Given the description of an element on the screen output the (x, y) to click on. 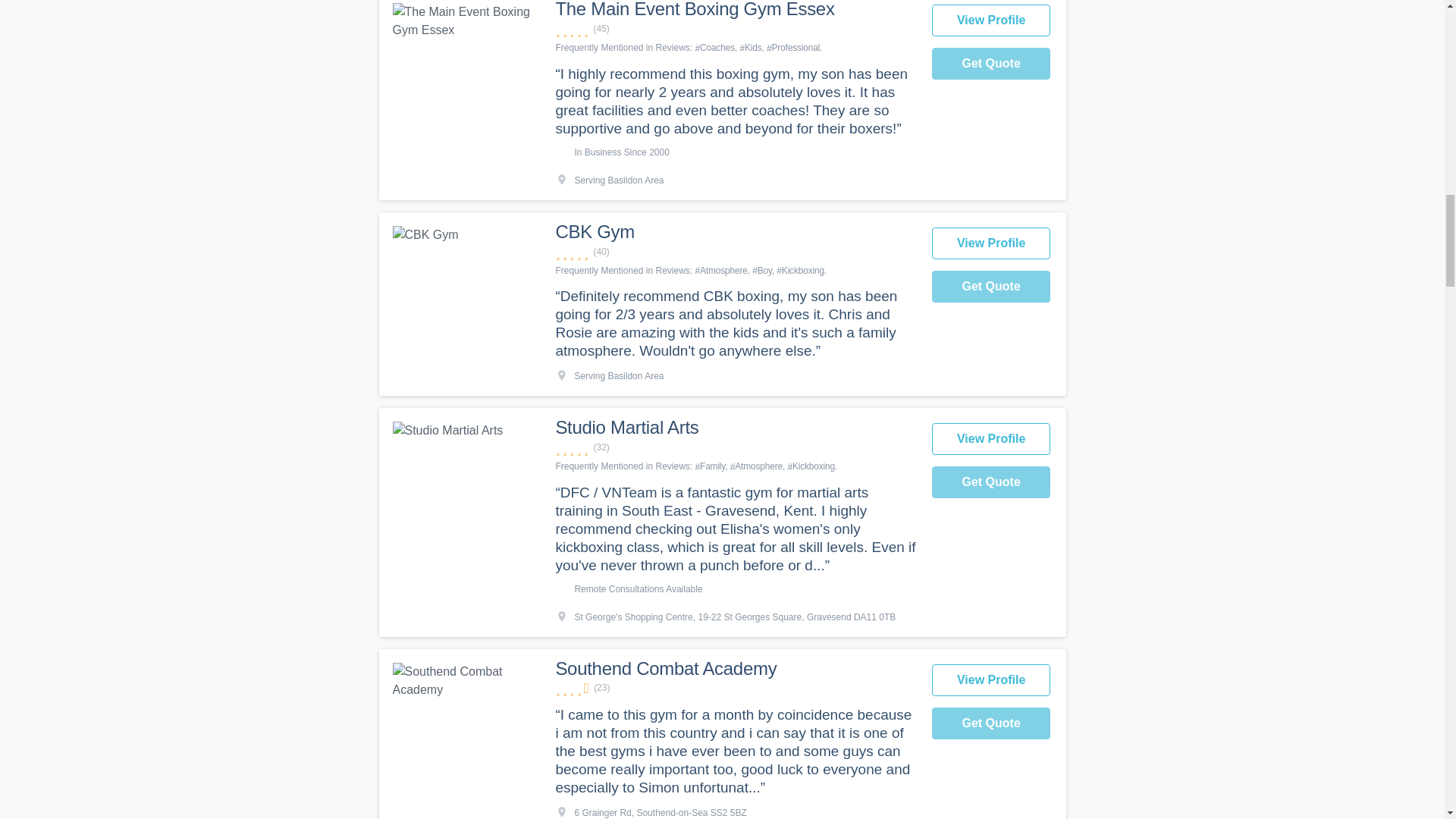
4.9 (734, 29)
4.7 (734, 447)
4.6 (734, 687)
4.9 (734, 251)
